Given the description of an element on the screen output the (x, y) to click on. 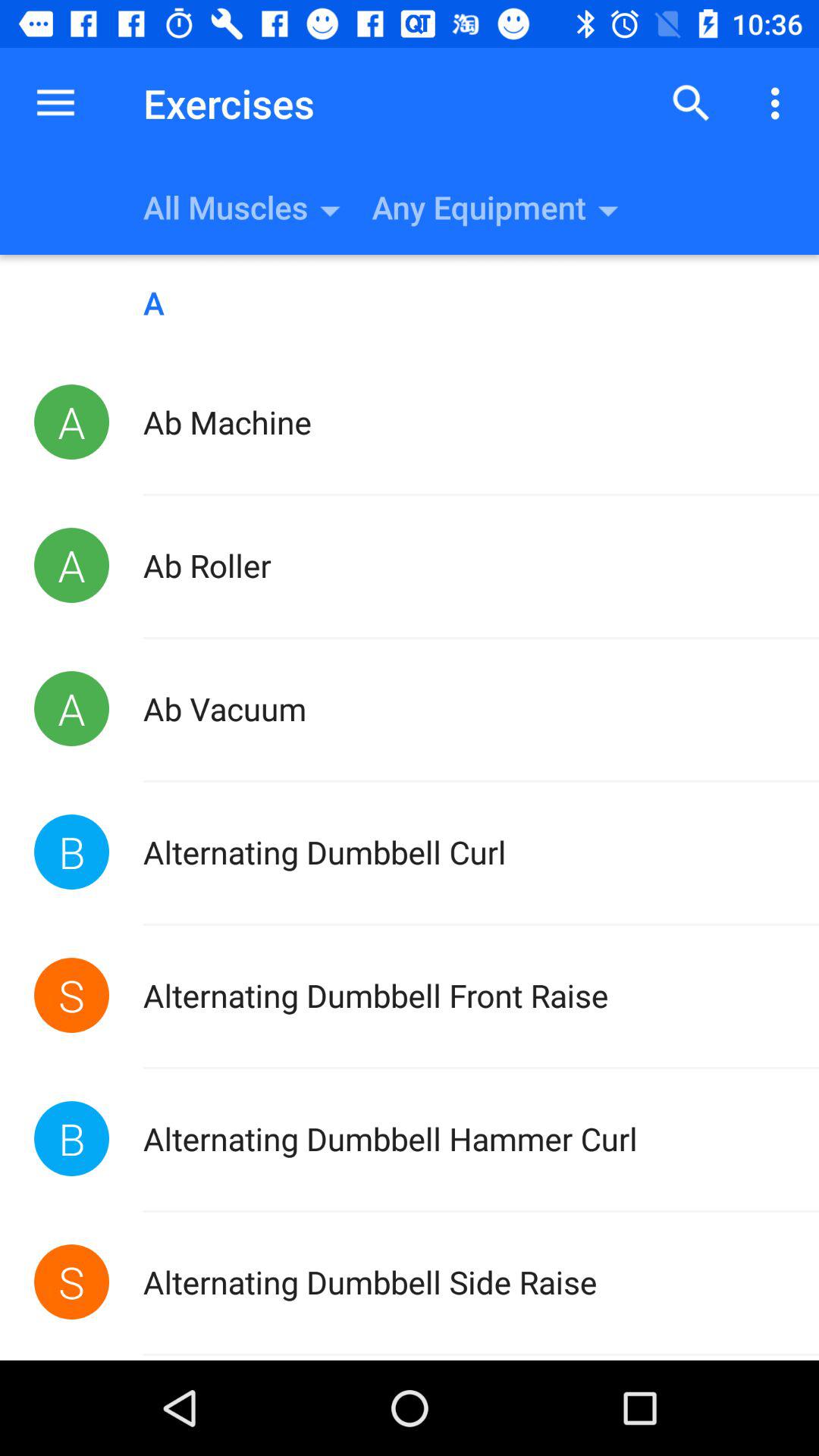
select the item to the left of exercises item (55, 103)
